Given the description of an element on the screen output the (x, y) to click on. 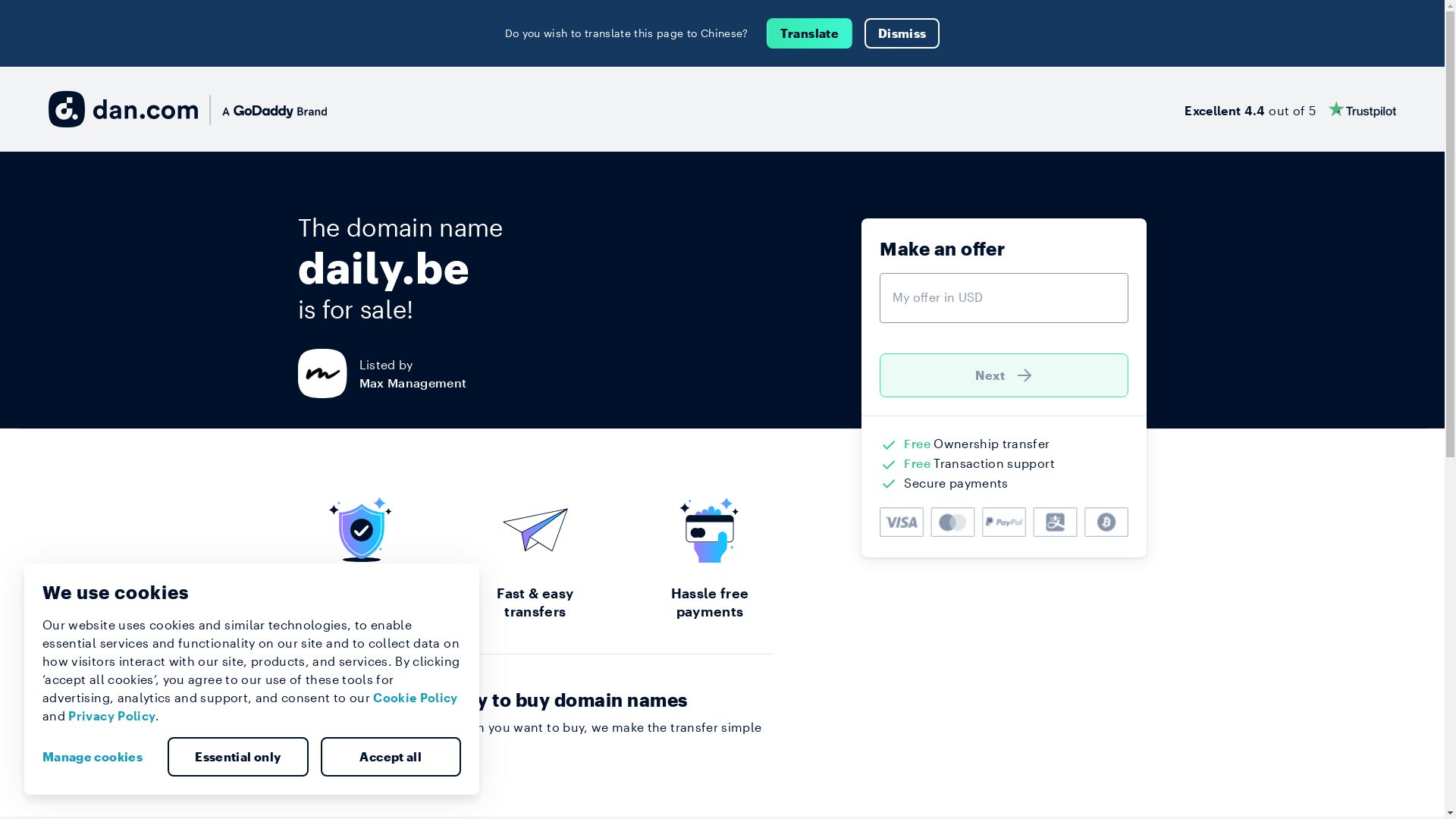
Excellent 4.4 out of 5 Element type: text (1290, 109)
Dismiss Element type: text (901, 33)
Manage cookies Element type: text (98, 756)
Translate Element type: text (809, 33)
Next
) Element type: text (1003, 375)
Cookie Policy Element type: text (415, 697)
Accept all Element type: text (390, 756)
Privacy Policy Element type: text (111, 715)
Essential only Element type: text (237, 756)
